Given the description of an element on the screen output the (x, y) to click on. 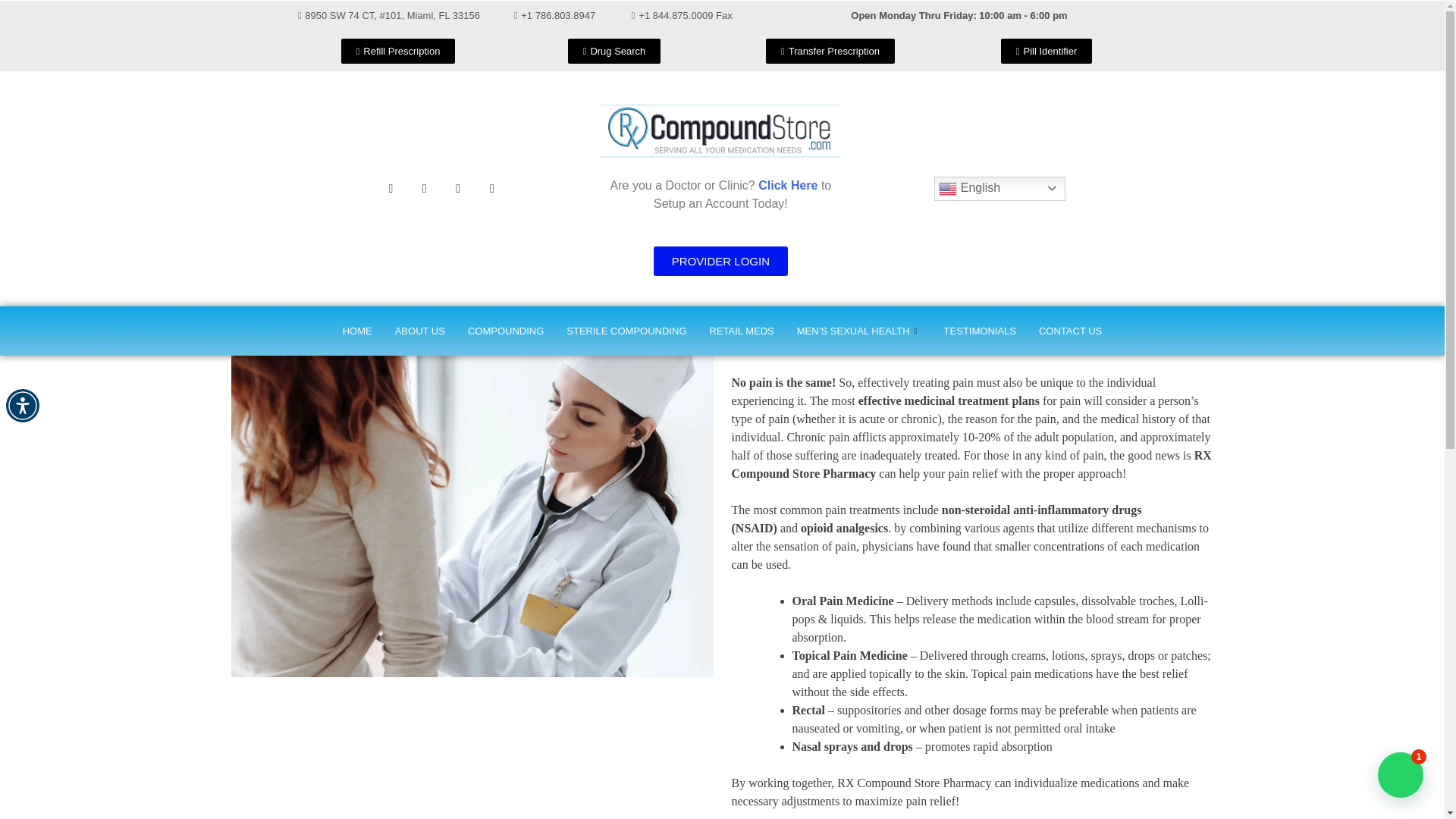
CONTACT US (1070, 331)
TESTIMONIALS (980, 331)
COMPOUNDING (505, 331)
Pill Identifier (1047, 50)
English (999, 188)
Transfer Prescription (830, 50)
Click Here (787, 185)
Accessibility Menu (22, 405)
Drug Search (614, 50)
Open Monday Thru Friday: 10:00 am - 6:00 pm (958, 15)
Refill Prescription (397, 50)
STERILE COMPOUNDING (625, 331)
HOME (357, 331)
ABOUT US (420, 331)
PROVIDER LOGIN (720, 261)
